Given the description of an element on the screen output the (x, y) to click on. 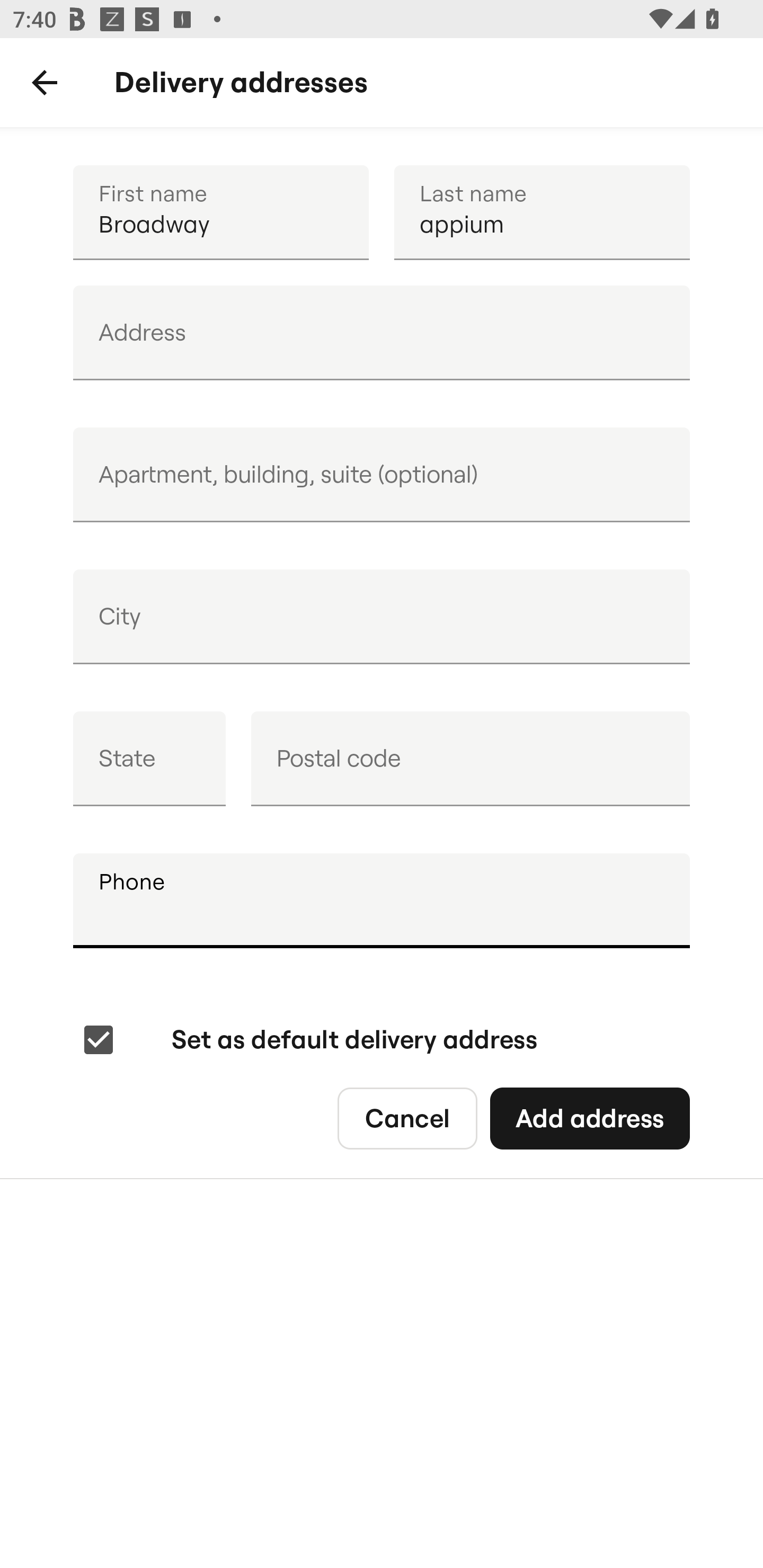
Back (44, 82)
Broadway (220, 212)
appium (541, 212)
Address (381, 333)
Apartment, building, suite (optional) (381, 475)
City (381, 616)
State (149, 758)
Postal code (470, 758)
Phone (381, 900)
Set as default delivery address (308, 1039)
Cancel (407, 1118)
Add address (589, 1118)
